Given the description of an element on the screen output the (x, y) to click on. 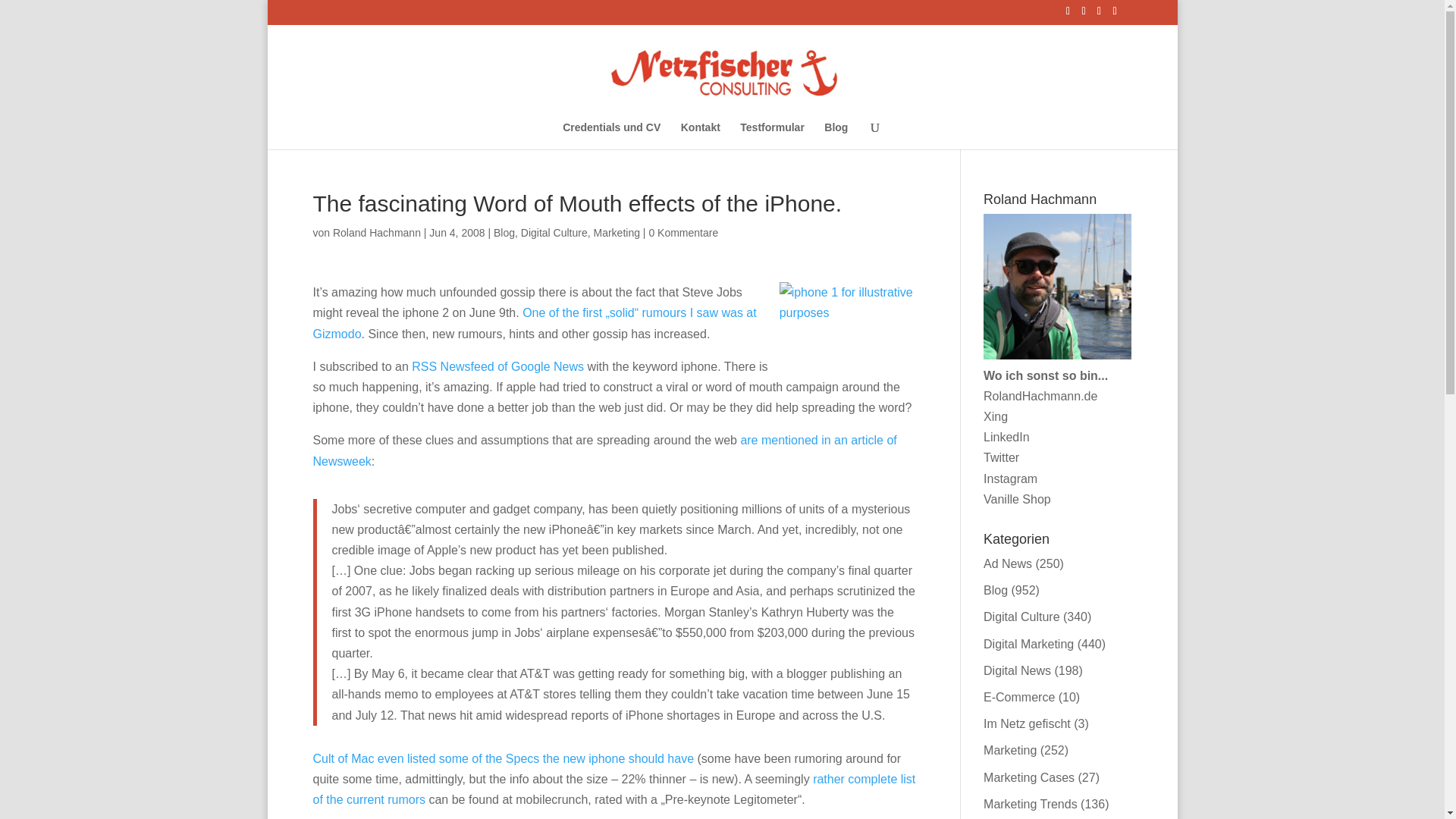
Instagram (1010, 478)
rather complete list of the current rumors (614, 789)
Im Netz gefischt (1027, 723)
Digital Marketing (1029, 644)
Blog (995, 590)
0 Kommentare (682, 232)
Kontakt (700, 134)
Digital Culture (554, 232)
Credentials und CV (611, 134)
iphone1 (846, 328)
Ad News (1008, 563)
Digital News (1017, 670)
Marketing (615, 232)
Xing (995, 416)
Marketing Cases (1029, 777)
